Given the description of an element on the screen output the (x, y) to click on. 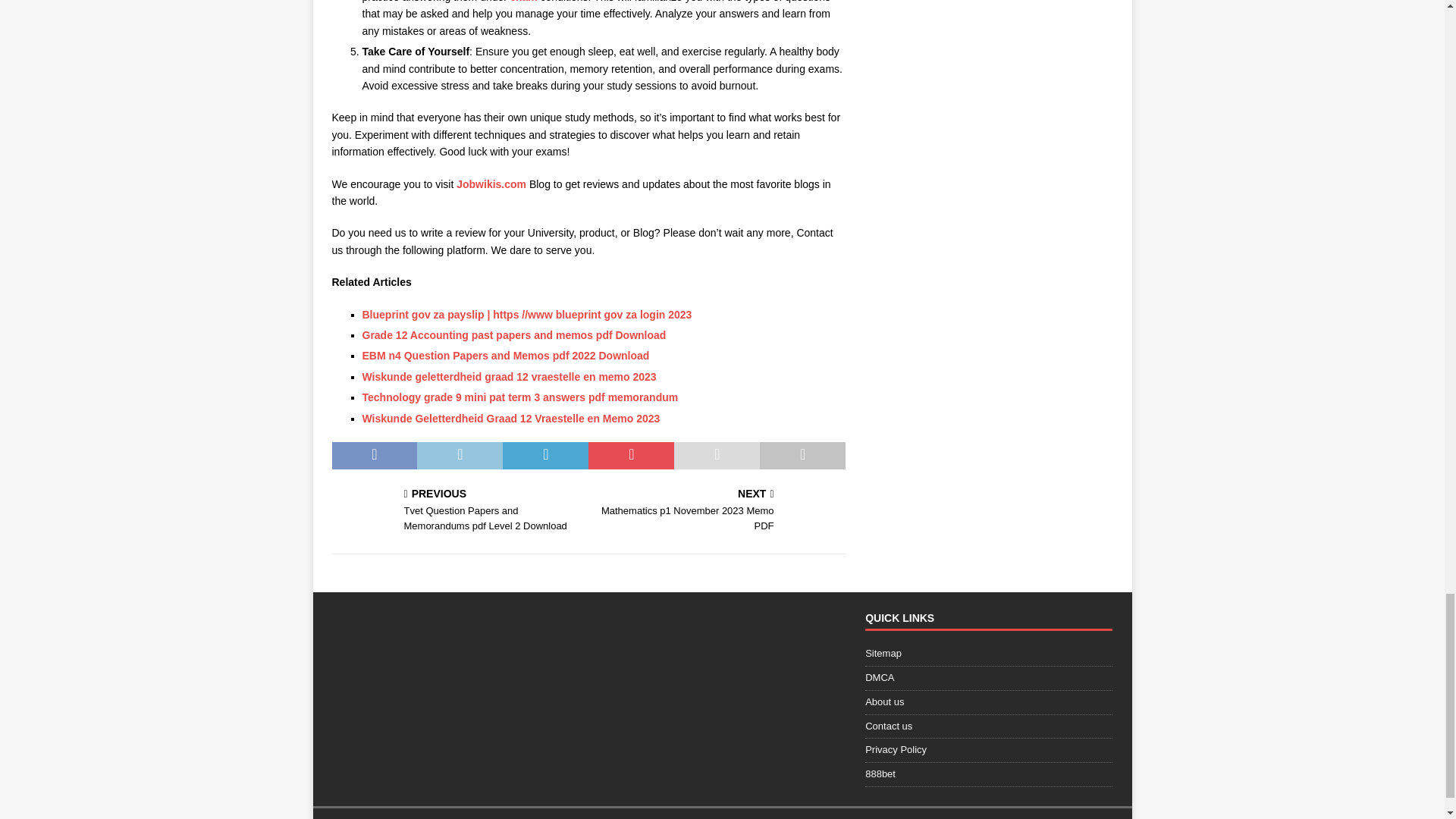
Wiskunde geletterdheid graad 12 vraestelle en memo 2023 (509, 377)
EBM n4 Question Papers and Memos pdf 2022 Download (505, 355)
Technology grade 9 mini pat term 3 answers pdf memorandum (520, 397)
Jobwikis.com (491, 184)
exam (524, 1)
Grade 12 Accounting past papers and memos pdf Download (514, 335)
Wiskunde Geletterdheid Graad 12 Vraestelle en Memo 2023 (511, 418)
